Given the description of an element on the screen output the (x, y) to click on. 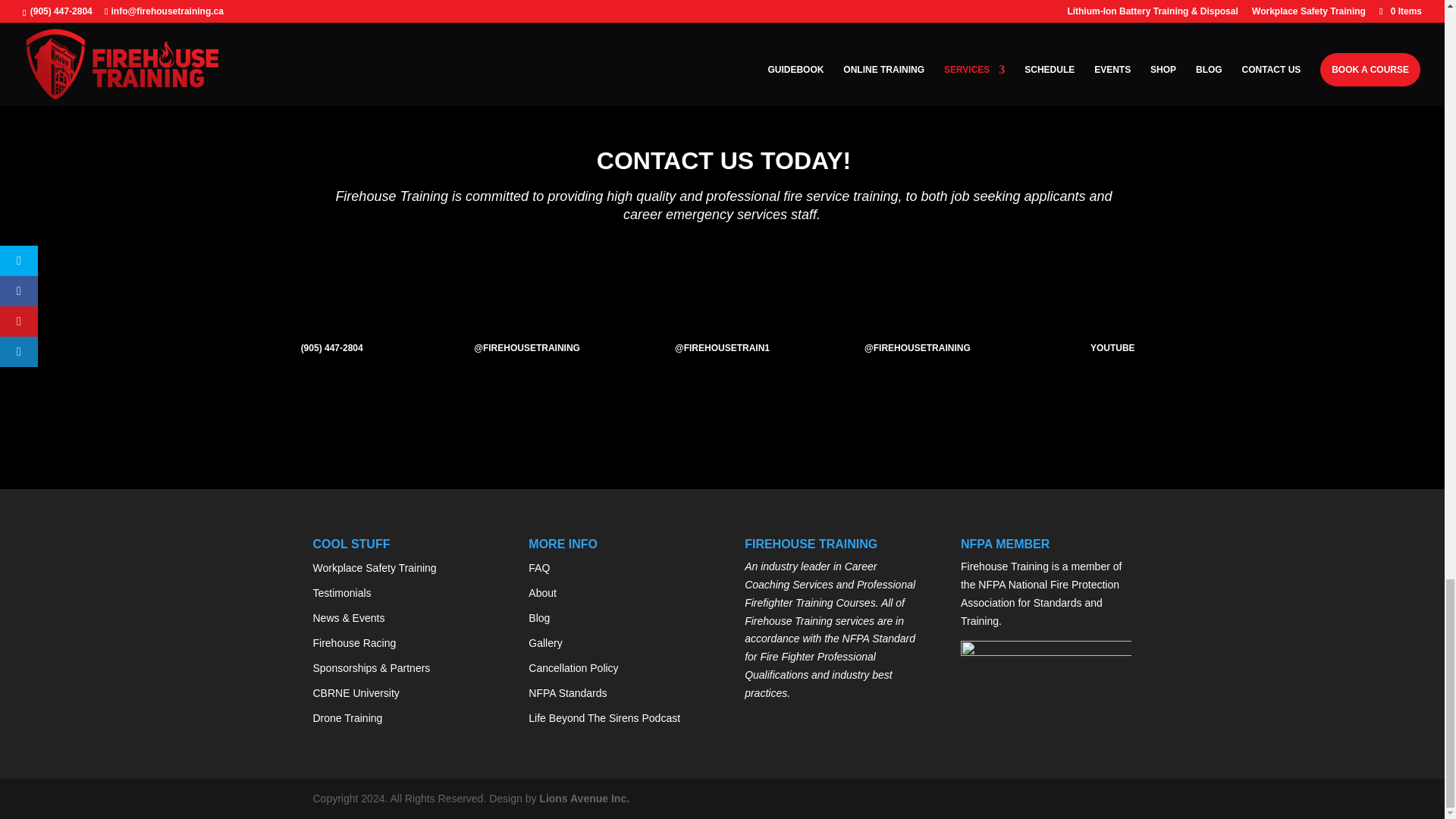
CONTACT US TODAY (386, 34)
